Given the description of an element on the screen output the (x, y) to click on. 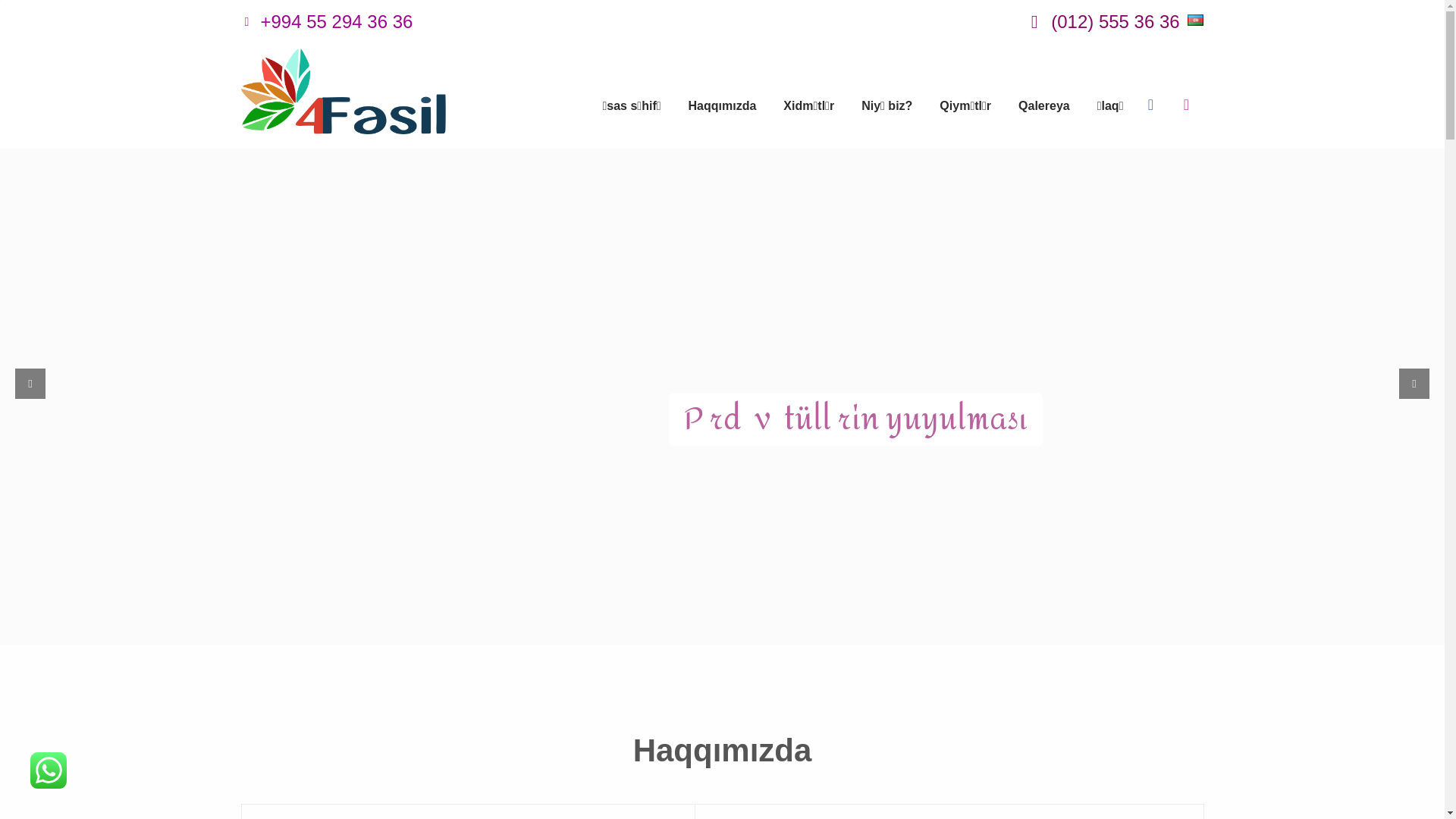
+994 55 294 36 36 Element type: text (327, 20)
Qalereya Element type: text (1044, 98)
(012) 555 36 36 Element type: text (1102, 20)
